Given the description of an element on the screen output the (x, y) to click on. 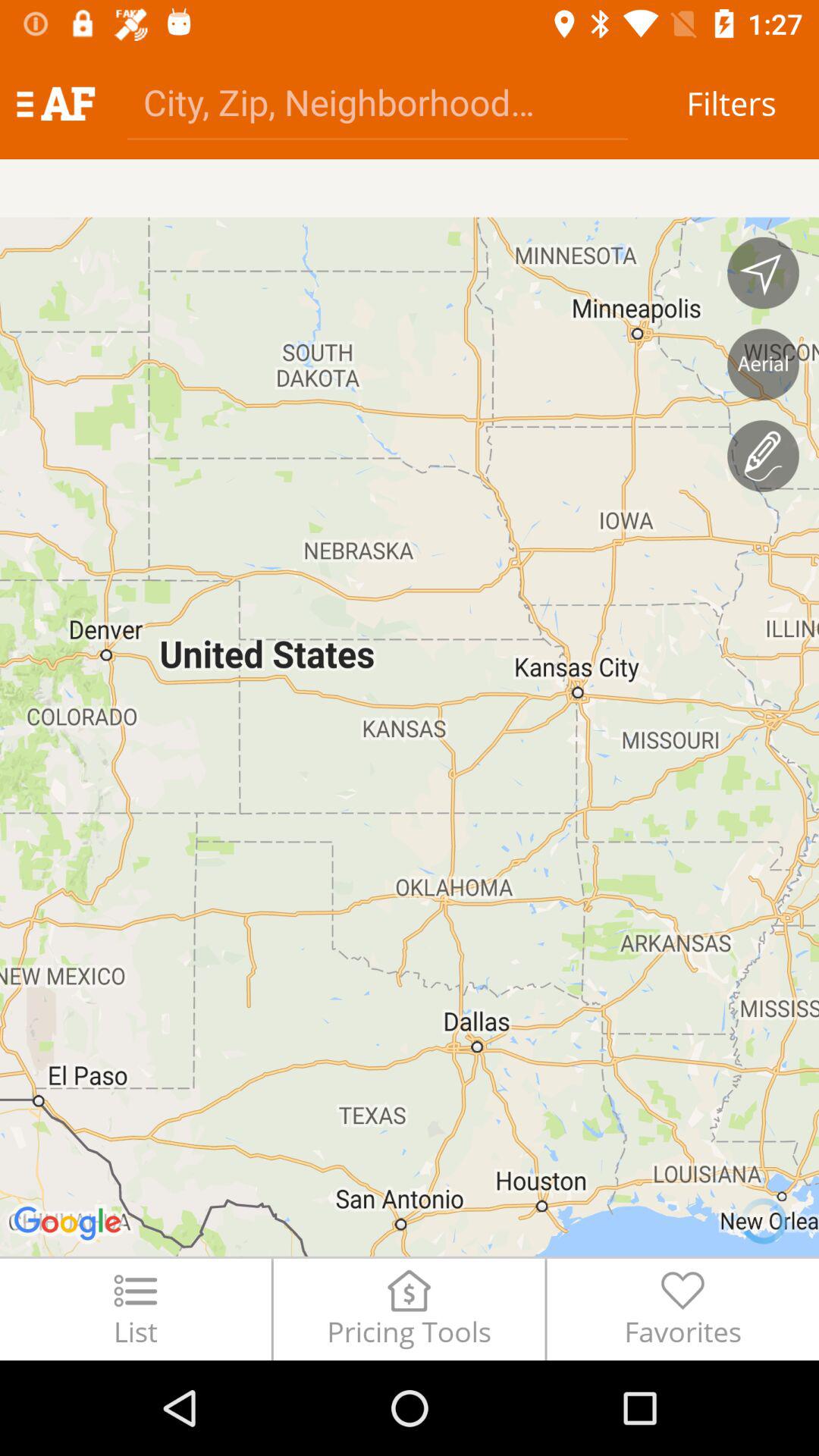
draw option (763, 455)
